Given the description of an element on the screen output the (x, y) to click on. 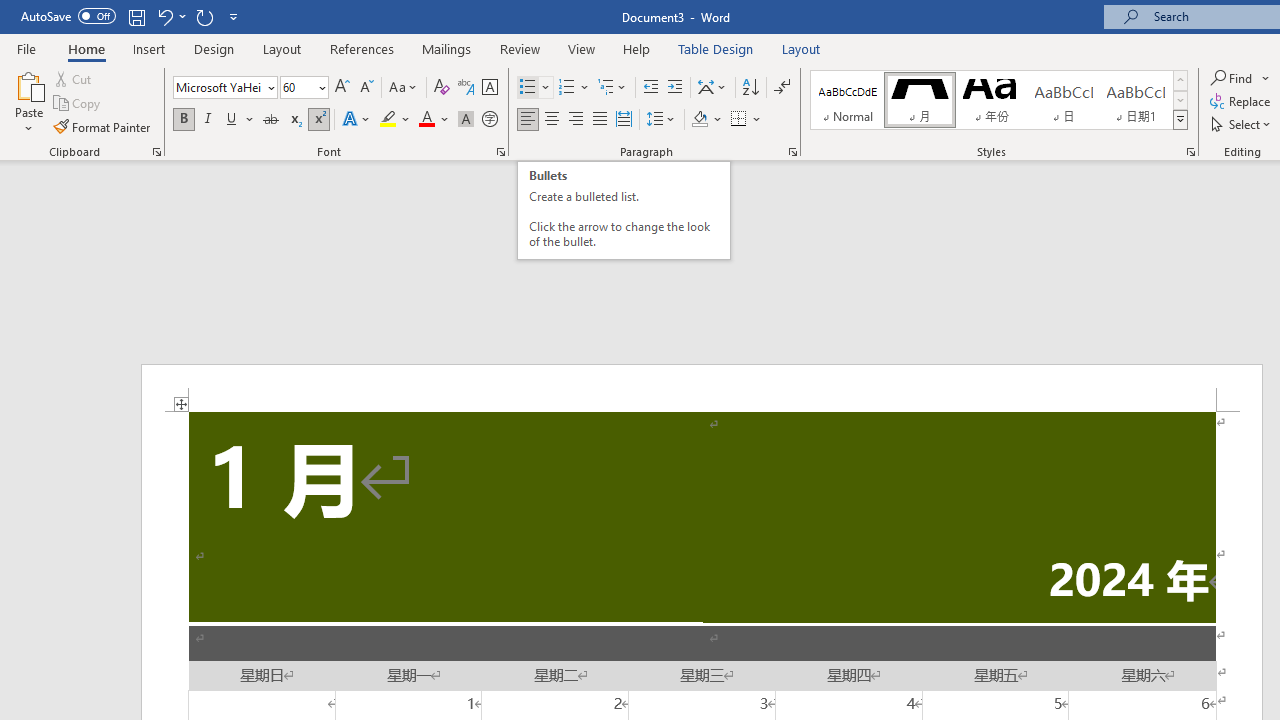
Clear Formatting (442, 87)
Save (136, 15)
Shading (706, 119)
Font (218, 87)
Show/Hide Editing Marks (781, 87)
Line and Paragraph Spacing (661, 119)
Review (520, 48)
Help (637, 48)
Phonetic Guide... (465, 87)
AutomationID: QuickStylesGallery (999, 99)
References (362, 48)
File Tab (26, 48)
Align Left (527, 119)
